Given the description of an element on the screen output the (x, y) to click on. 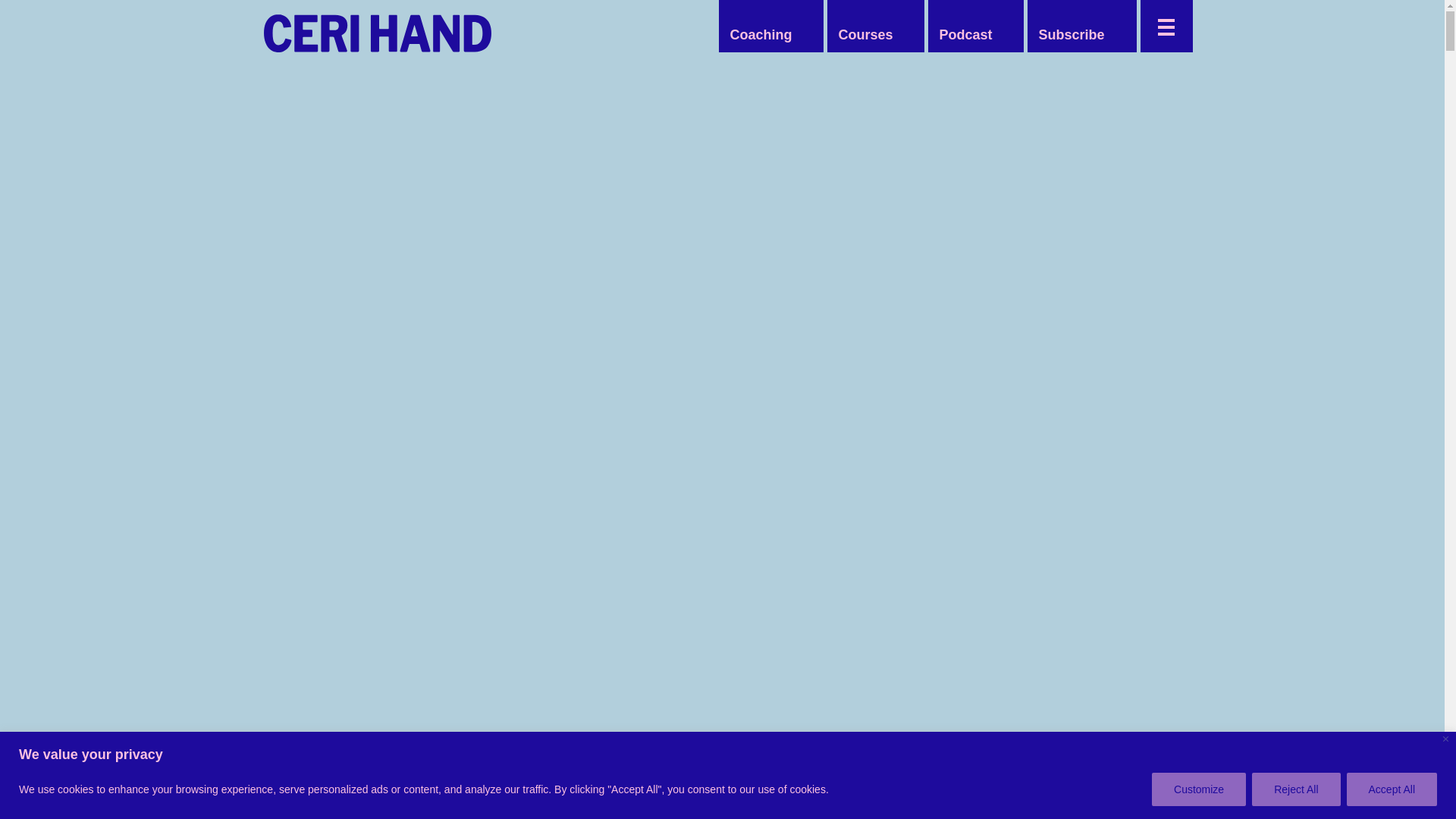
Reject All (1295, 788)
Accept All (1391, 788)
Coaching (760, 34)
Podcast (964, 34)
Subscribe (1070, 34)
Courses (864, 34)
Customize (1198, 788)
